Given the description of an element on the screen output the (x, y) to click on. 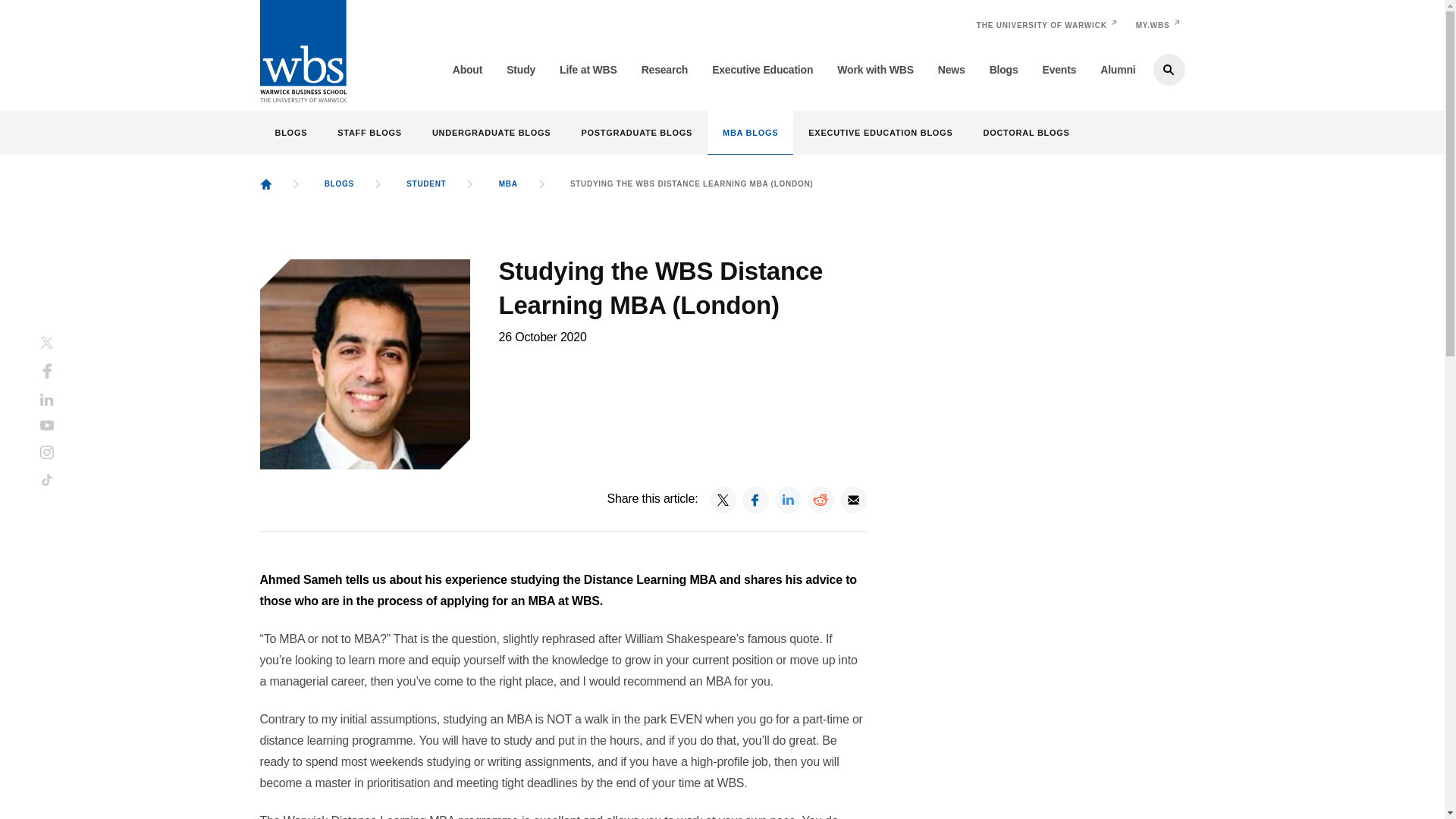
MY.WBS (1152, 25)
THE UNIVERSITY OF WARWICK (1041, 25)
The University of Warwick (1041, 25)
My.WBS (1152, 25)
